Given the description of an element on the screen output the (x, y) to click on. 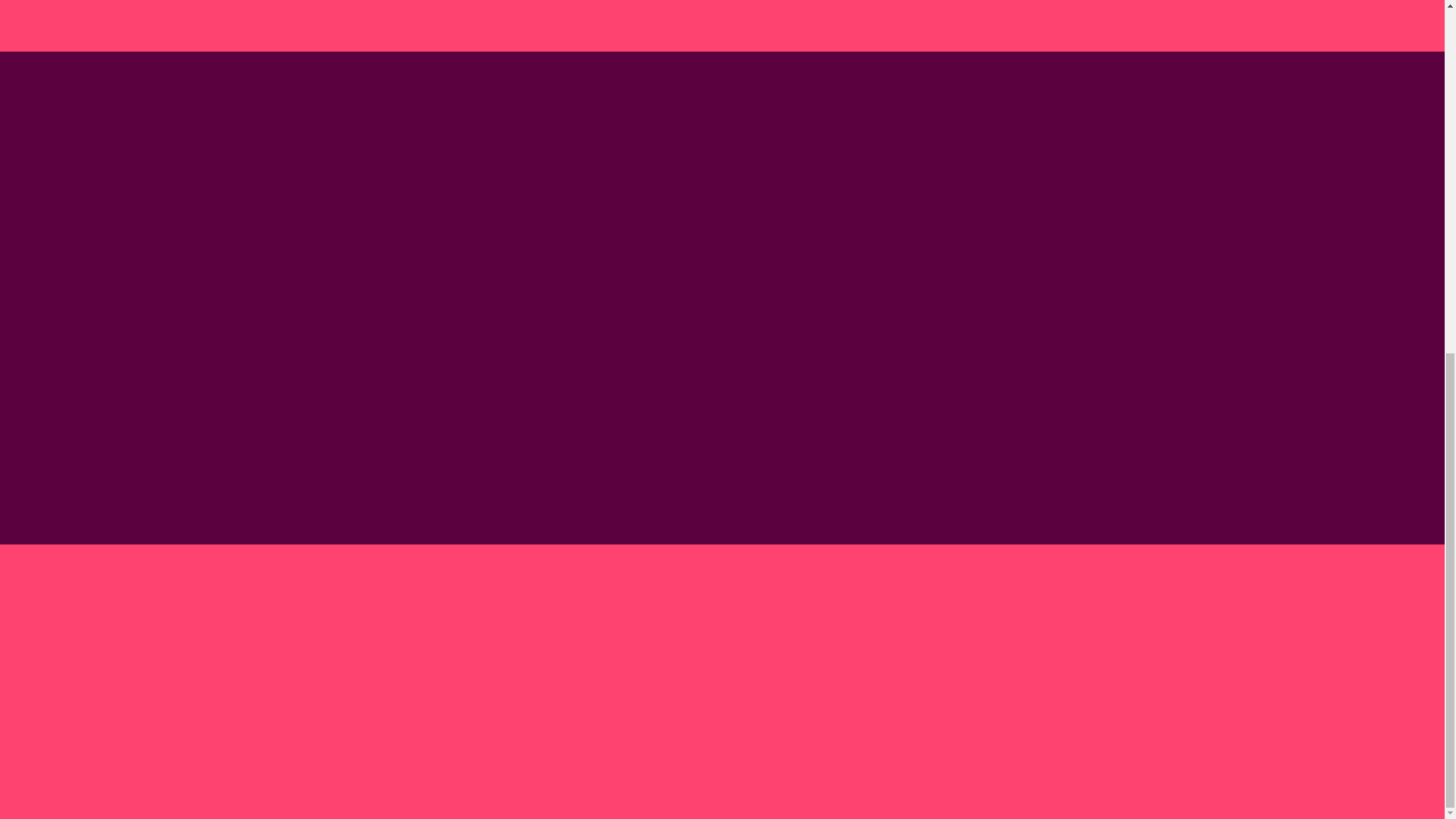
Companies (575, 547)
Investors (569, 584)
Life at Banijay (581, 509)
Copyright (938, 597)
News (561, 566)
Shows (564, 528)
Our Story (571, 491)
